Given the description of an element on the screen output the (x, y) to click on. 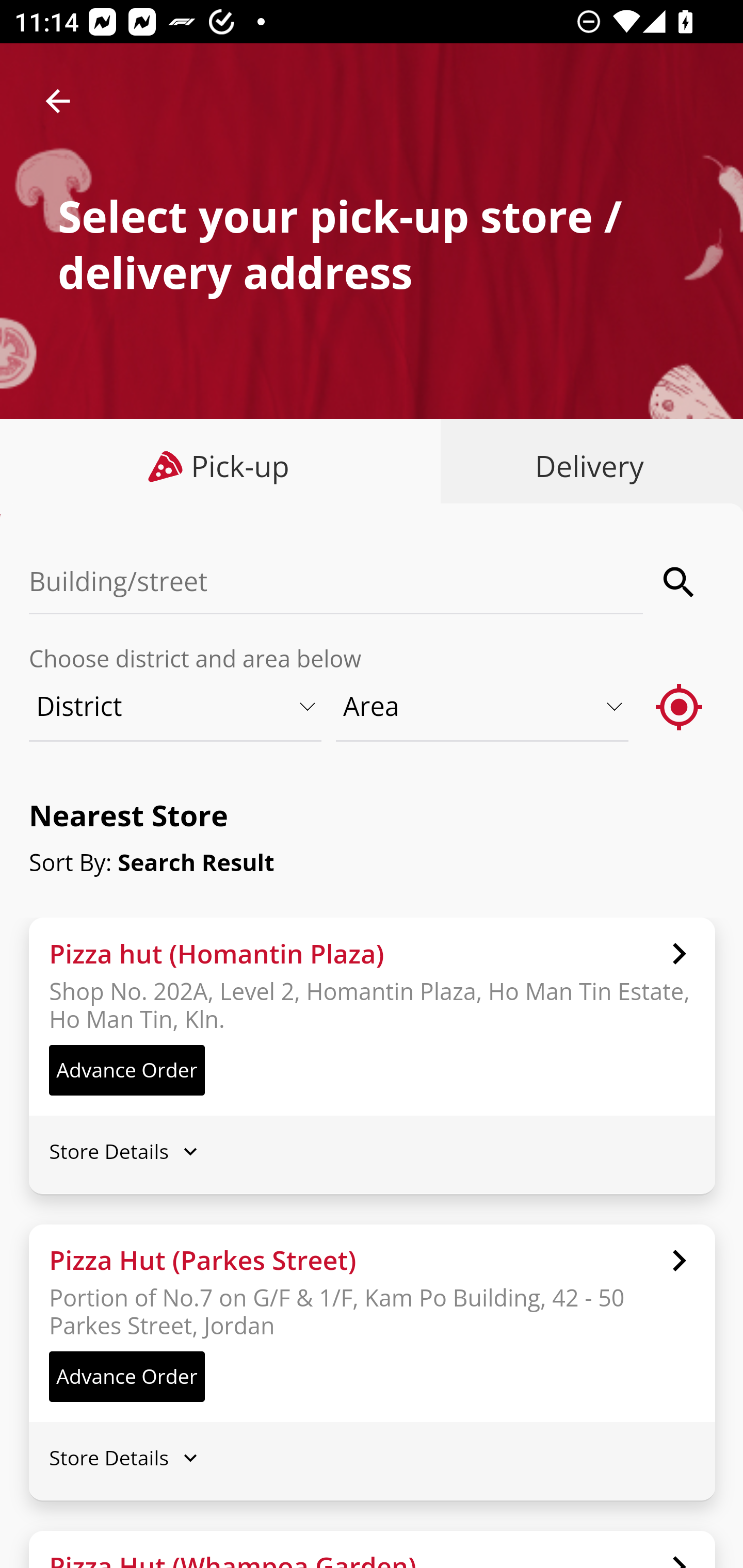
arrow_back (58, 100)
Pick-up (221, 466)
Delivery (585, 466)
search (679, 582)
gps_fixed (679, 706)
District (175, 706)
Area (482, 706)
Store Details (371, 1149)
Store Details (371, 1457)
